Given the description of an element on the screen output the (x, y) to click on. 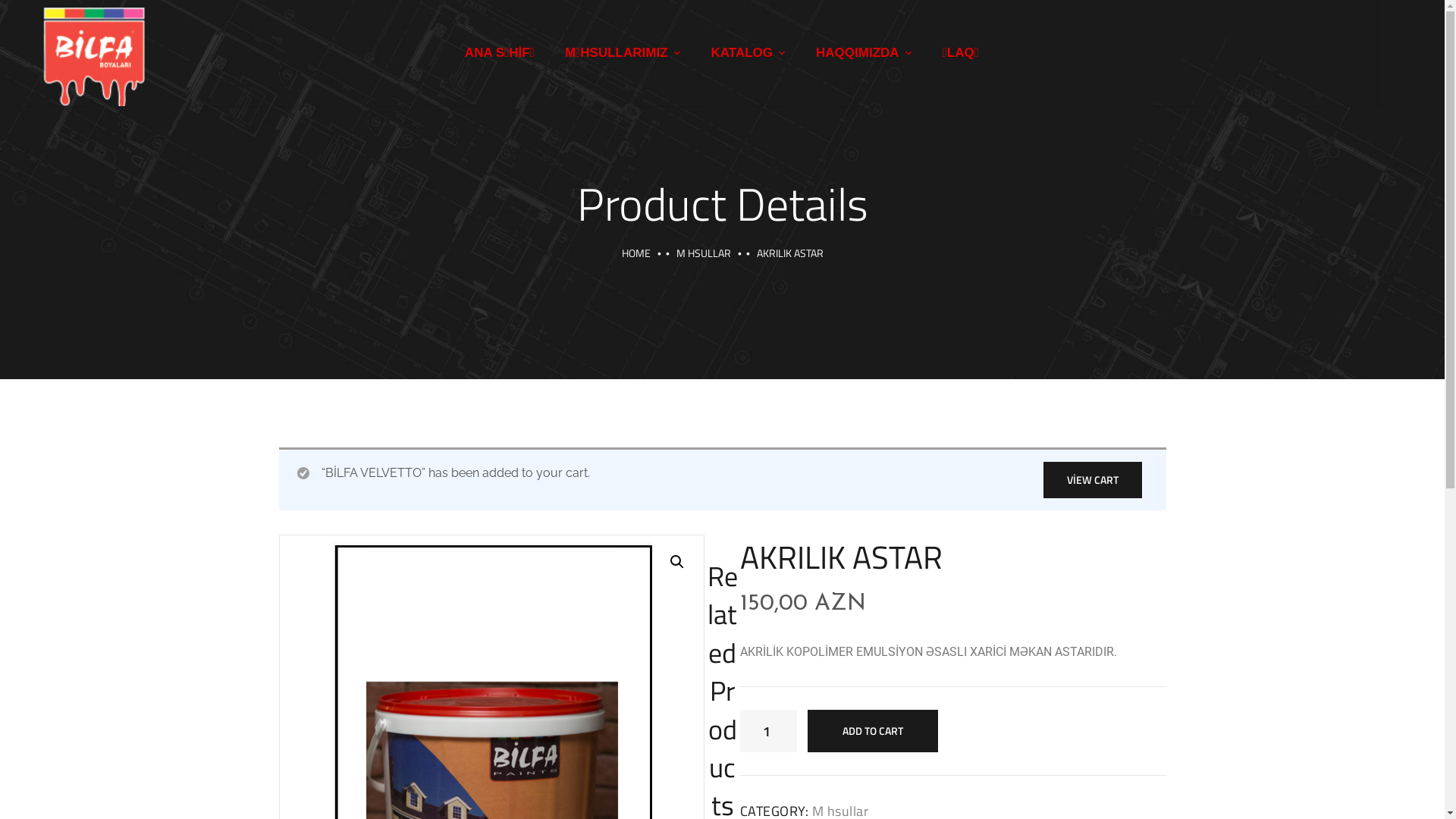
VIEW CART Element type: text (1092, 479)
HAQQIMIZDA Element type: text (863, 53)
HOME Element type: text (635, 252)
KATALOG Element type: text (748, 53)
ADD TO CART Element type: text (872, 730)
Qty Element type: hover (768, 730)
